Given the description of an element on the screen output the (x, y) to click on. 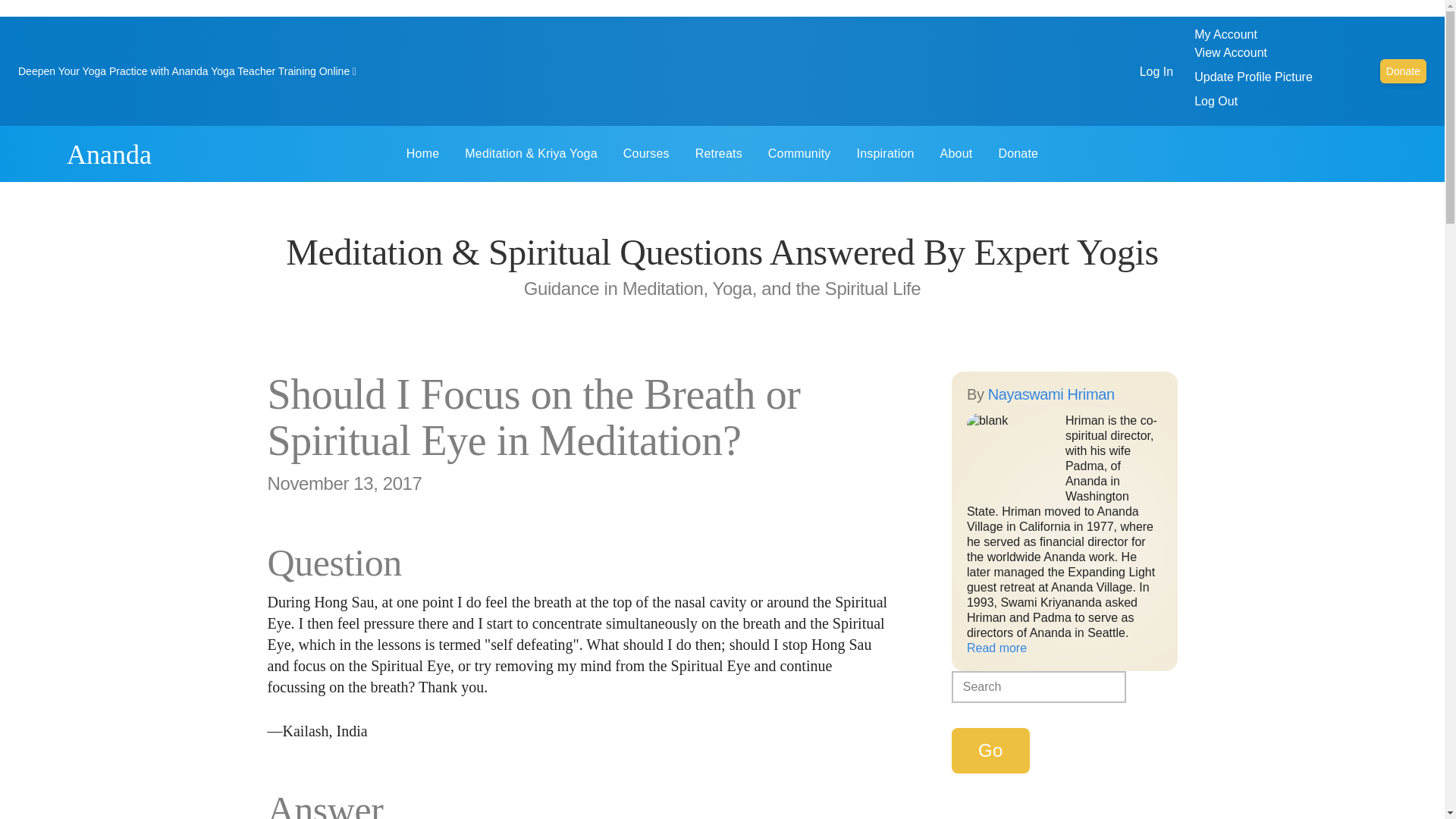
Courses (646, 153)
Ananda (108, 154)
View Account (1229, 51)
Log In (1156, 71)
Update Profile Picture (1253, 76)
Home (39, 153)
Log Out (1215, 101)
Home (422, 153)
Ananda (39, 153)
Donate (1403, 70)
Home (108, 154)
